Given the description of an element on the screen output the (x, y) to click on. 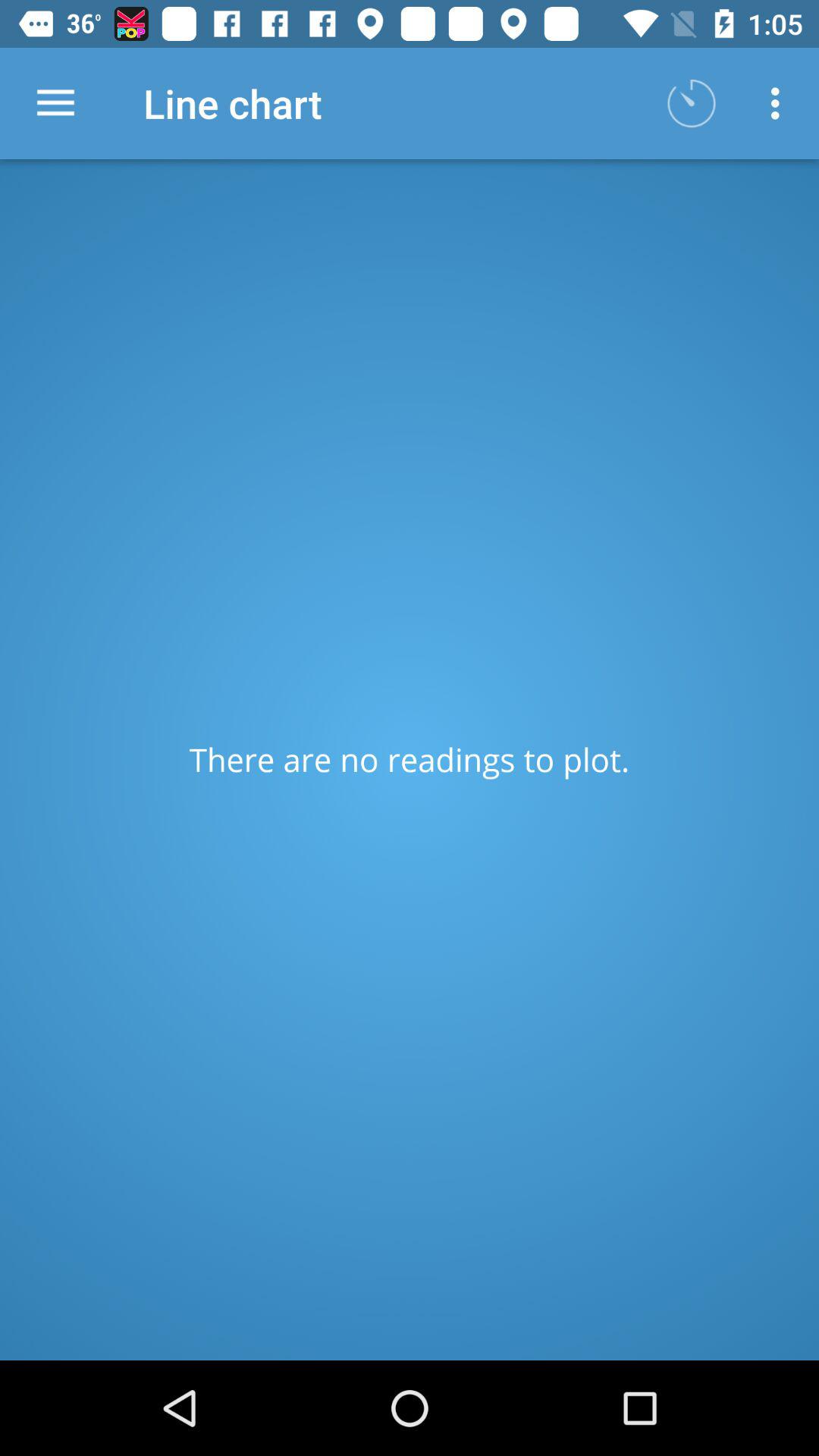
tap icon next to the line chart (691, 103)
